Given the description of an element on the screen output the (x, y) to click on. 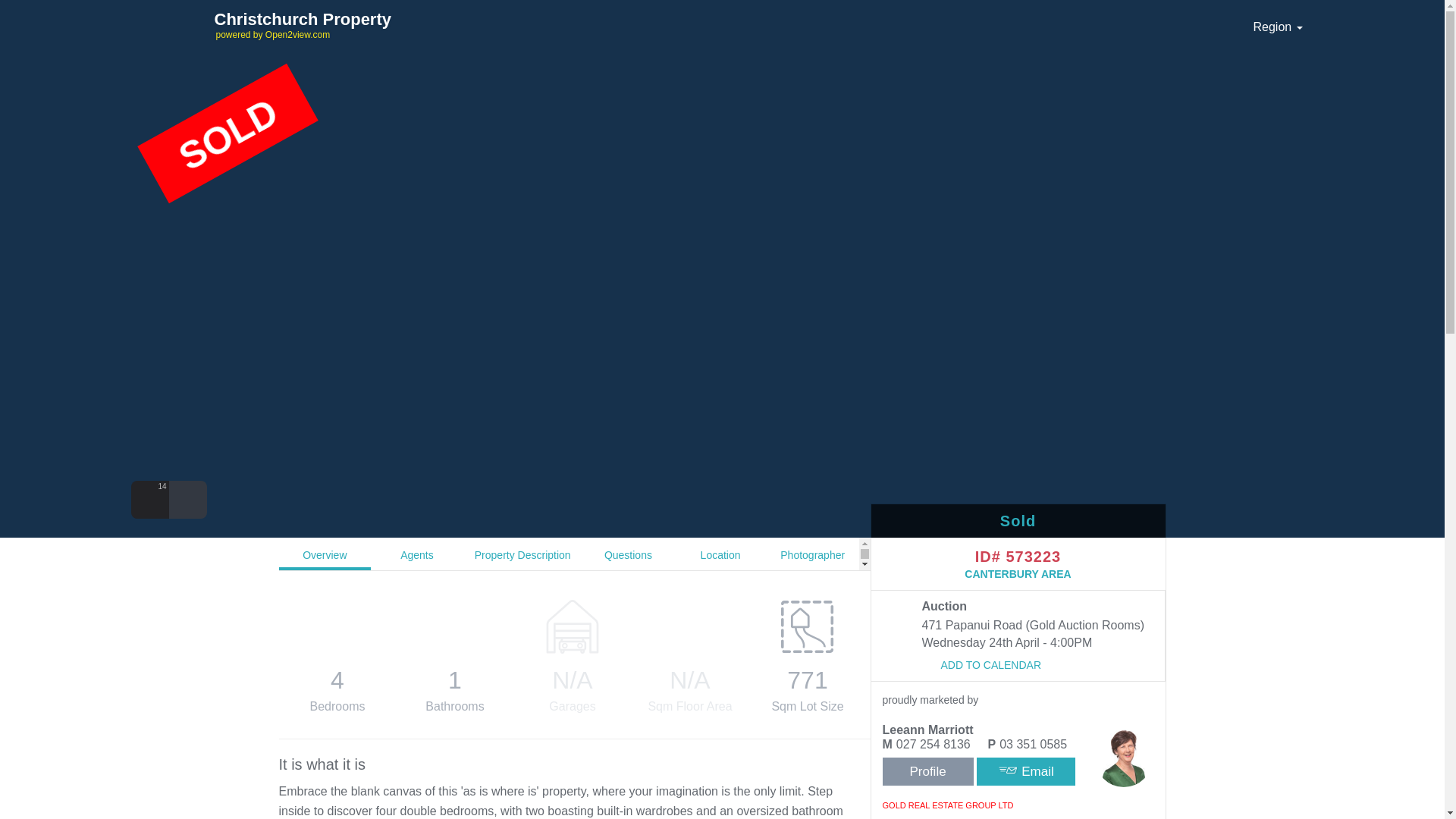
Christchurch Property (369, 19)
